Given the description of an element on the screen output the (x, y) to click on. 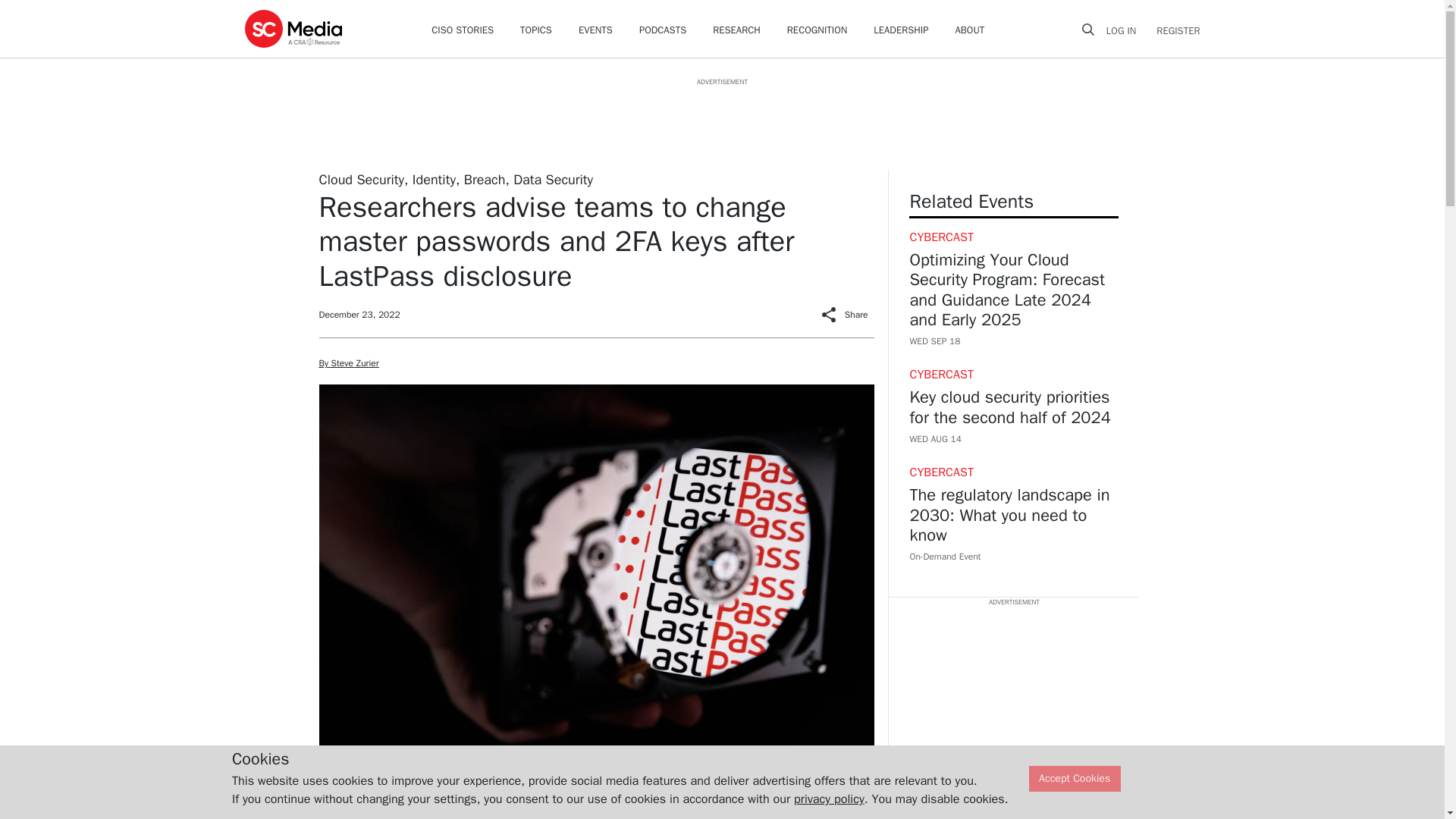
REGISTER (1173, 30)
By Steve Zurier (348, 363)
Breach (484, 179)
Key cloud security priorities for the second half of 2024 (1013, 418)
SC Media (292, 27)
Identity (433, 179)
CISO STORIES (461, 30)
TOPICS (535, 30)
Data Security (552, 179)
PODCASTS (662, 30)
LOG IN (1126, 30)
RECOGNITION (817, 30)
3rd party ad content (721, 121)
ABOUT (970, 30)
